Given the description of an element on the screen output the (x, y) to click on. 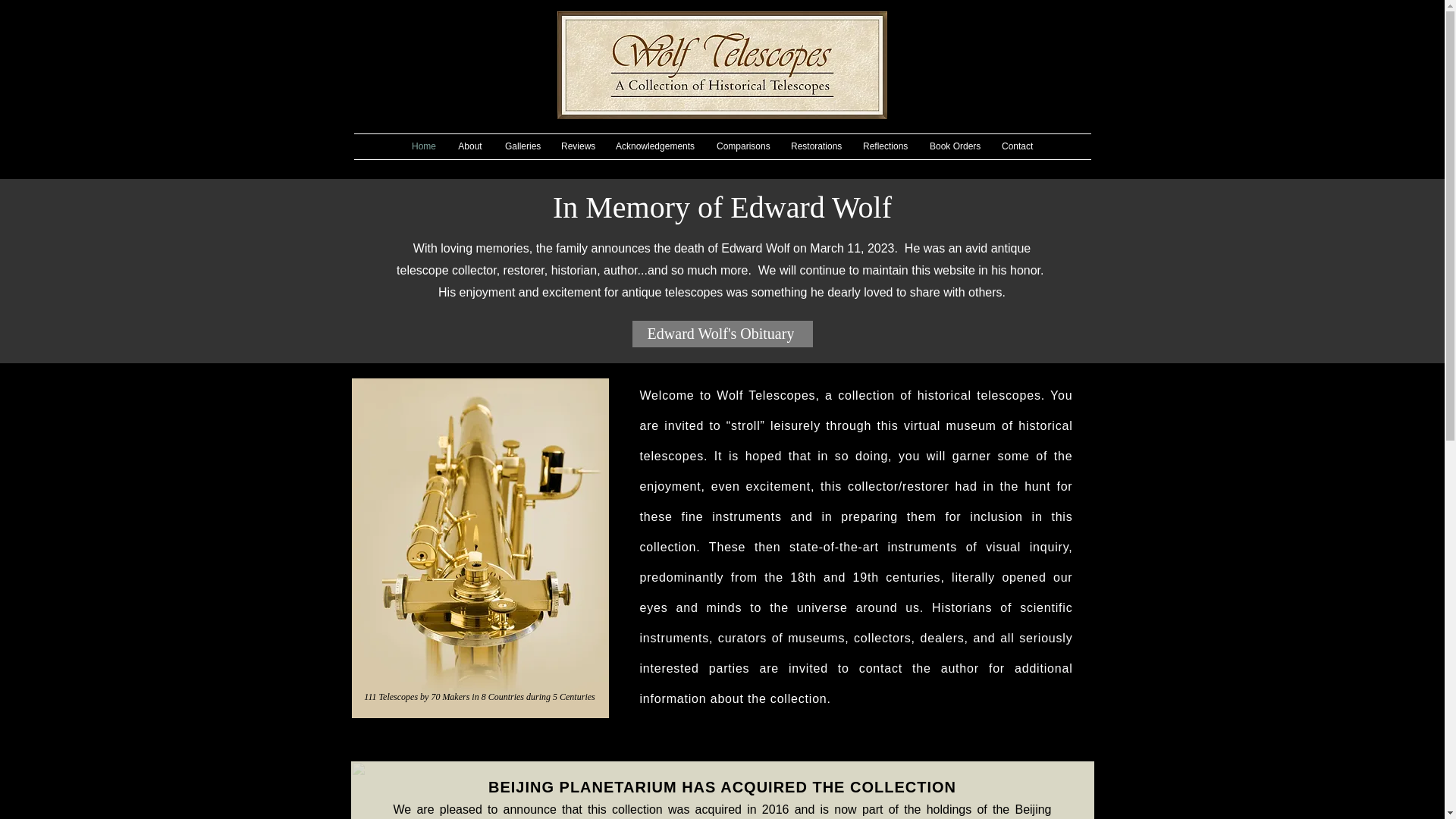
Reviews (577, 146)
Home (423, 146)
Book Orders (954, 146)
Restorations (814, 146)
Galleries (521, 146)
About (469, 146)
Edward Wolf's Obituary (721, 334)
Reflections (884, 146)
Acknowledgements (654, 146)
Contact (1016, 146)
Comparisons (741, 146)
